Given the description of an element on the screen output the (x, y) to click on. 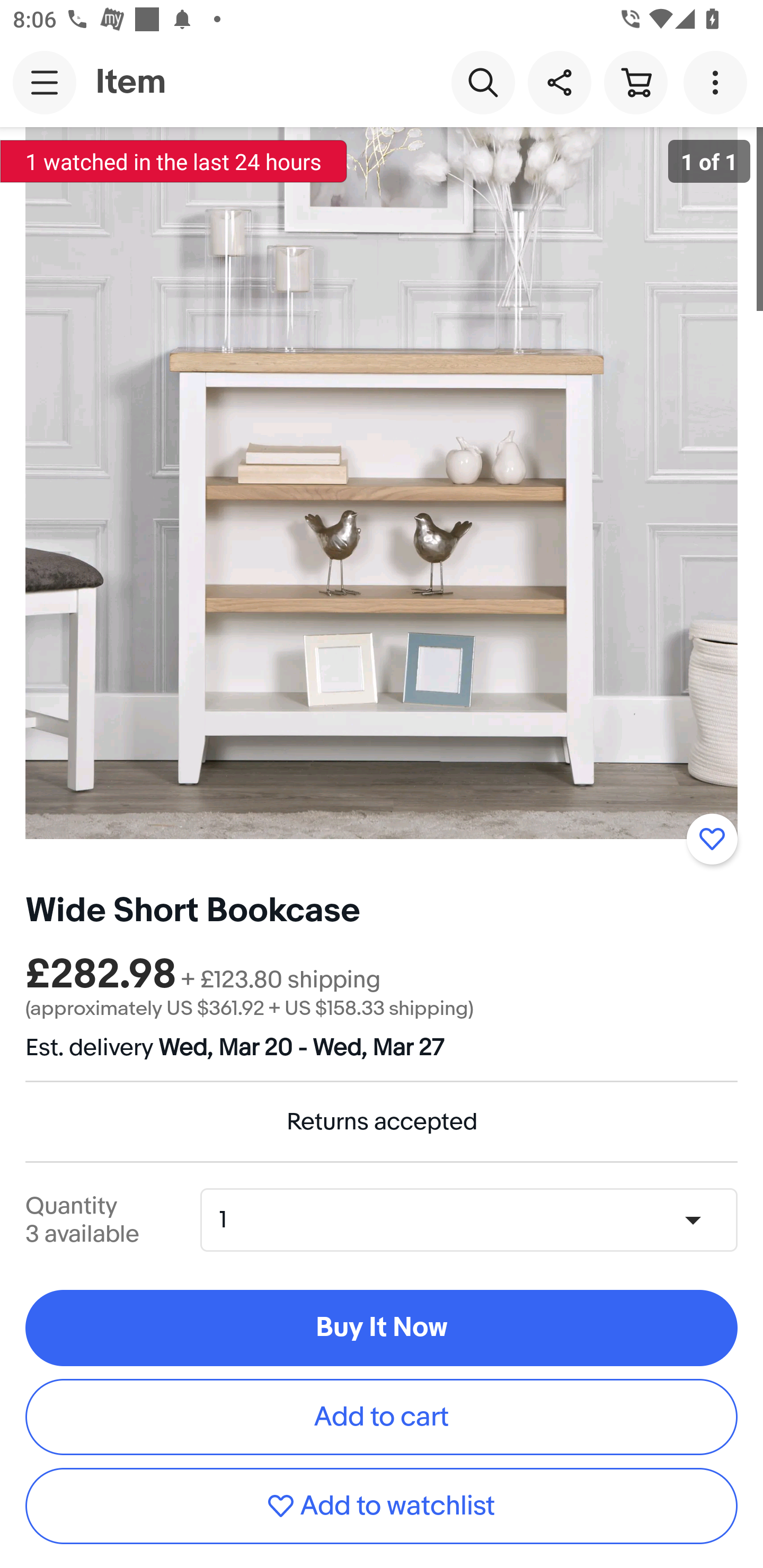
Main navigation, open (44, 82)
Search (482, 81)
Share this item (559, 81)
Cart button shopping cart (635, 81)
More options (718, 81)
Item image 1 of 1 (381, 482)
1 watched in the last 24 hours (173, 161)
Add to watchlist (711, 838)
Wide Short Bookcase (192, 910)
Quantity,1,3 available 1 (474, 1219)
Buy It Now (381, 1327)
Add to cart (381, 1416)
Add to watchlist (381, 1505)
